Given the description of an element on the screen output the (x, y) to click on. 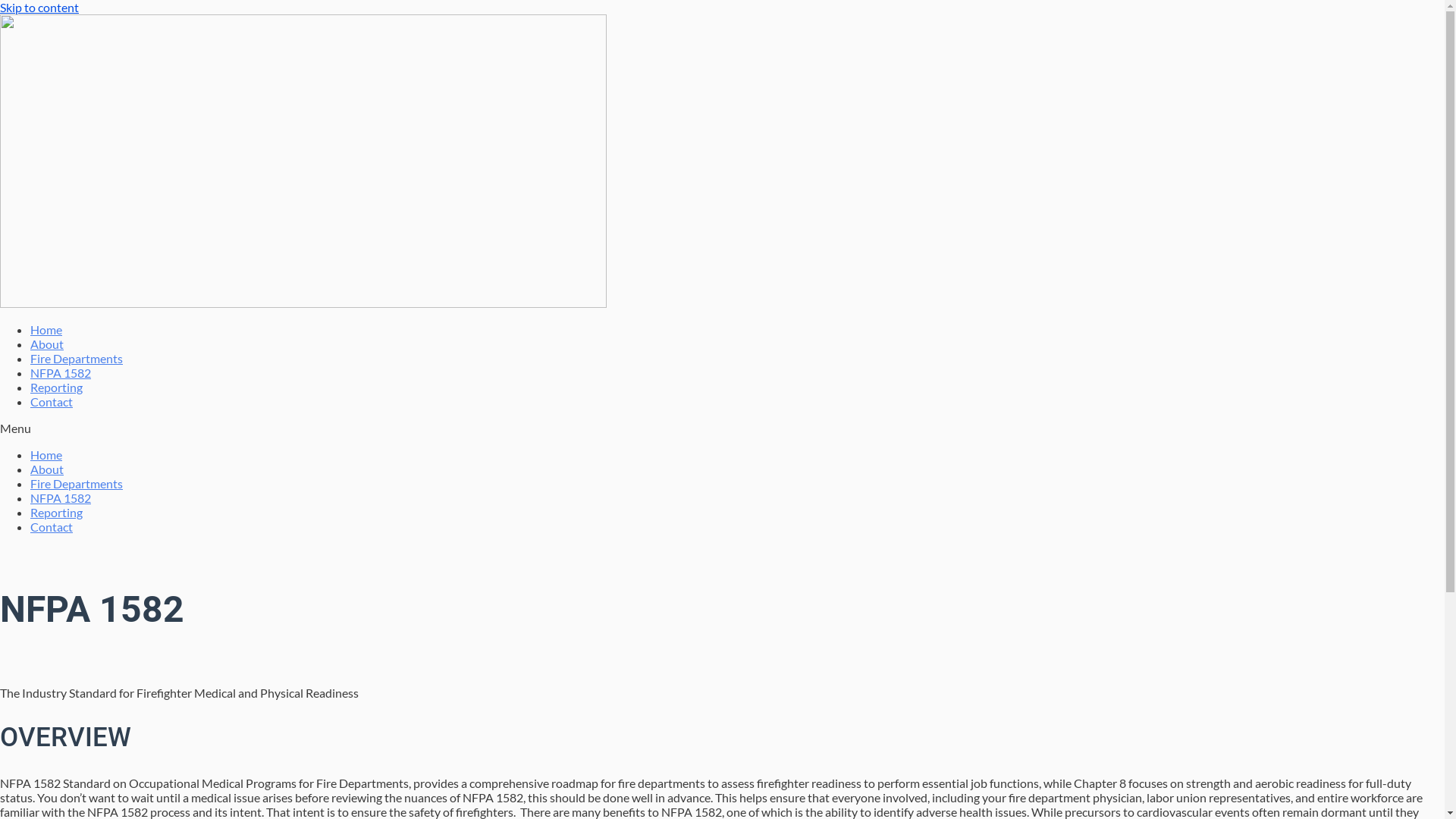
Home Element type: text (46, 329)
About Element type: text (46, 468)
Reporting Element type: text (56, 386)
Reporting Element type: text (56, 512)
Fire Departments Element type: text (76, 358)
Contact Element type: text (51, 401)
About Element type: text (46, 343)
Skip to content Element type: text (39, 7)
NFPA 1582 Element type: text (60, 372)
Fire Departments Element type: text (76, 483)
Home Element type: text (46, 454)
Contact Element type: text (51, 526)
NFPA 1582 Element type: text (60, 497)
